Given the description of an element on the screen output the (x, y) to click on. 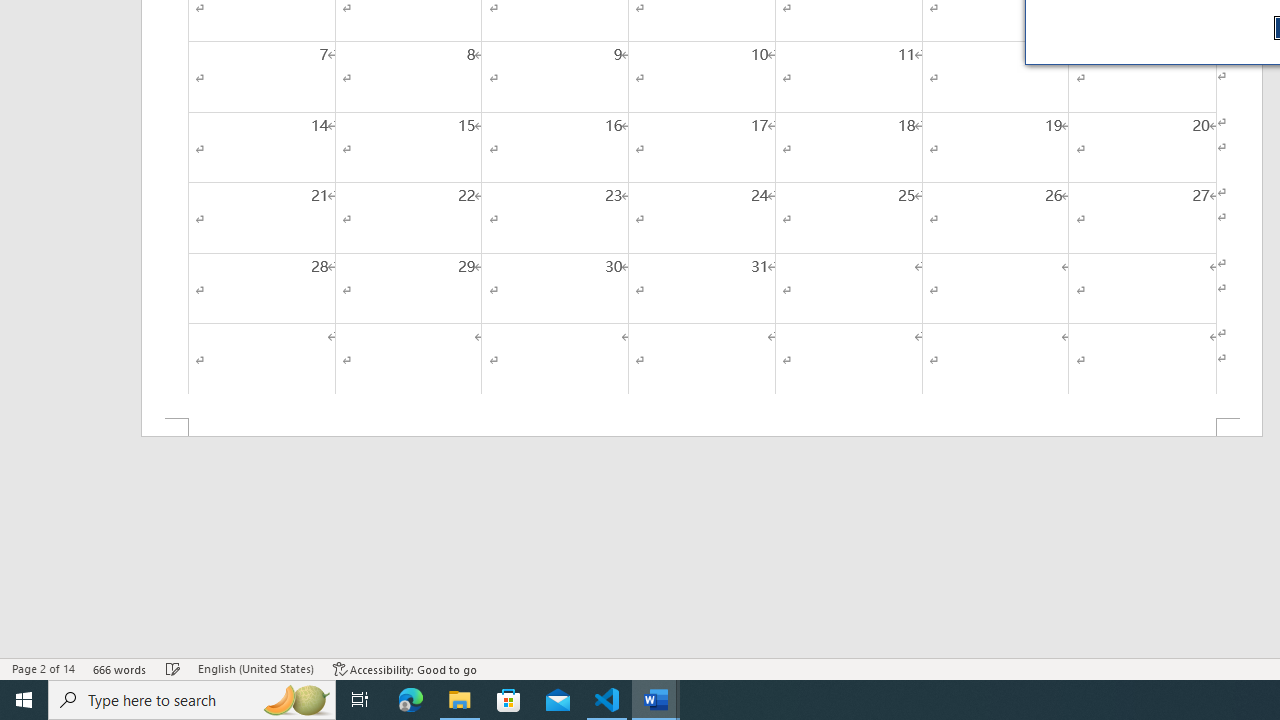
Page Number Page 2 of 14 (43, 668)
Search highlights icon opens search home window (295, 699)
Language English (United States) (255, 668)
Task View (359, 699)
Footer -Section 1- (701, 427)
Accessibility Checker Accessibility: Good to go (405, 668)
Spelling and Grammar Check Checking (173, 668)
File Explorer - 1 running window (460, 699)
Word Count 666 words (119, 668)
Type here to search (191, 699)
Word - 2 running windows (656, 699)
Microsoft Store (509, 699)
Visual Studio Code - 1 running window (607, 699)
